Given the description of an element on the screen output the (x, y) to click on. 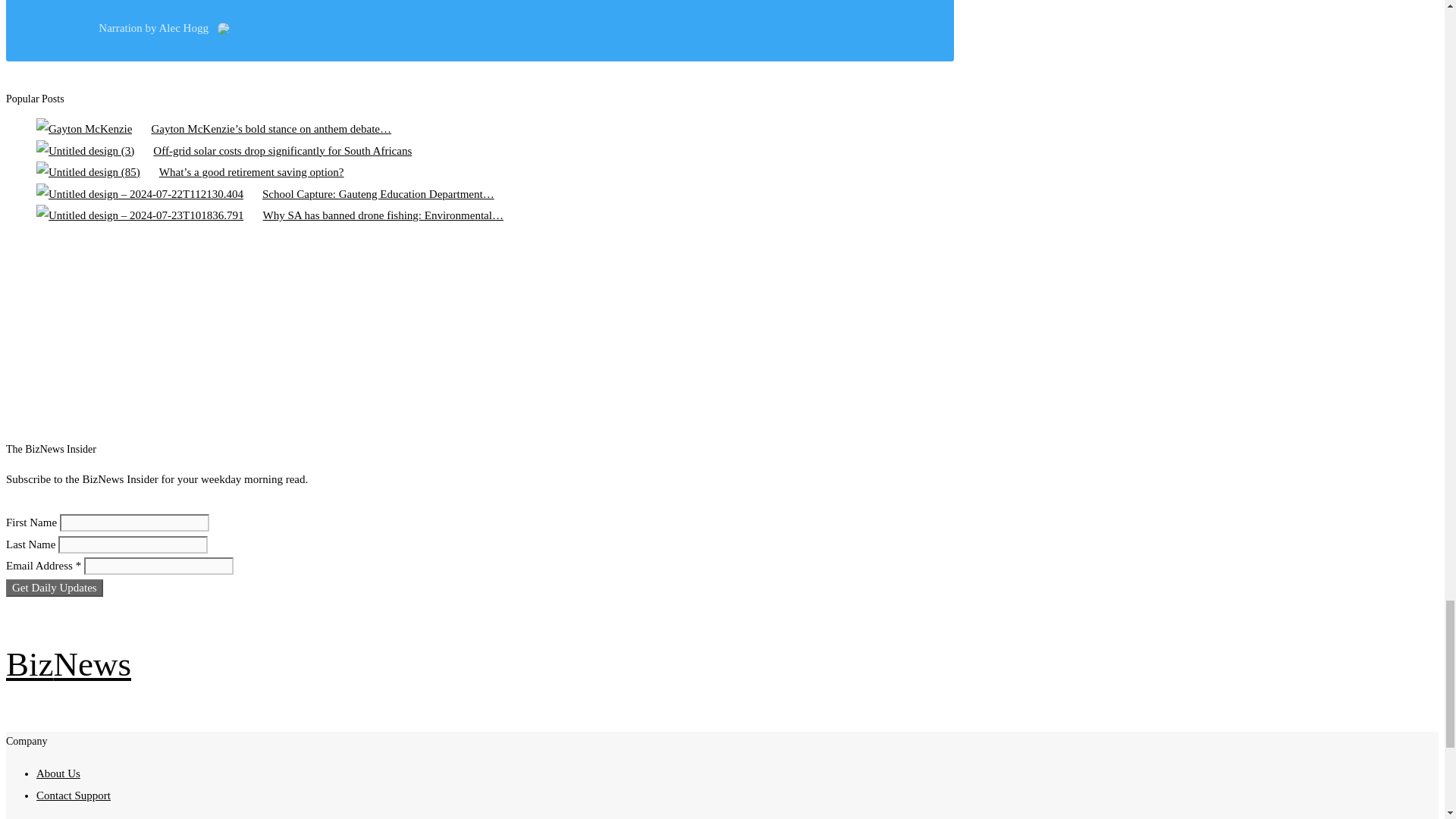
BizNews (68, 664)
Get Daily Updates (54, 588)
Spotify Embed: BizNews Radio (464, 335)
Off-grid solar costs drop significantly for South Africans (84, 151)
